Given the description of an element on the screen output the (x, y) to click on. 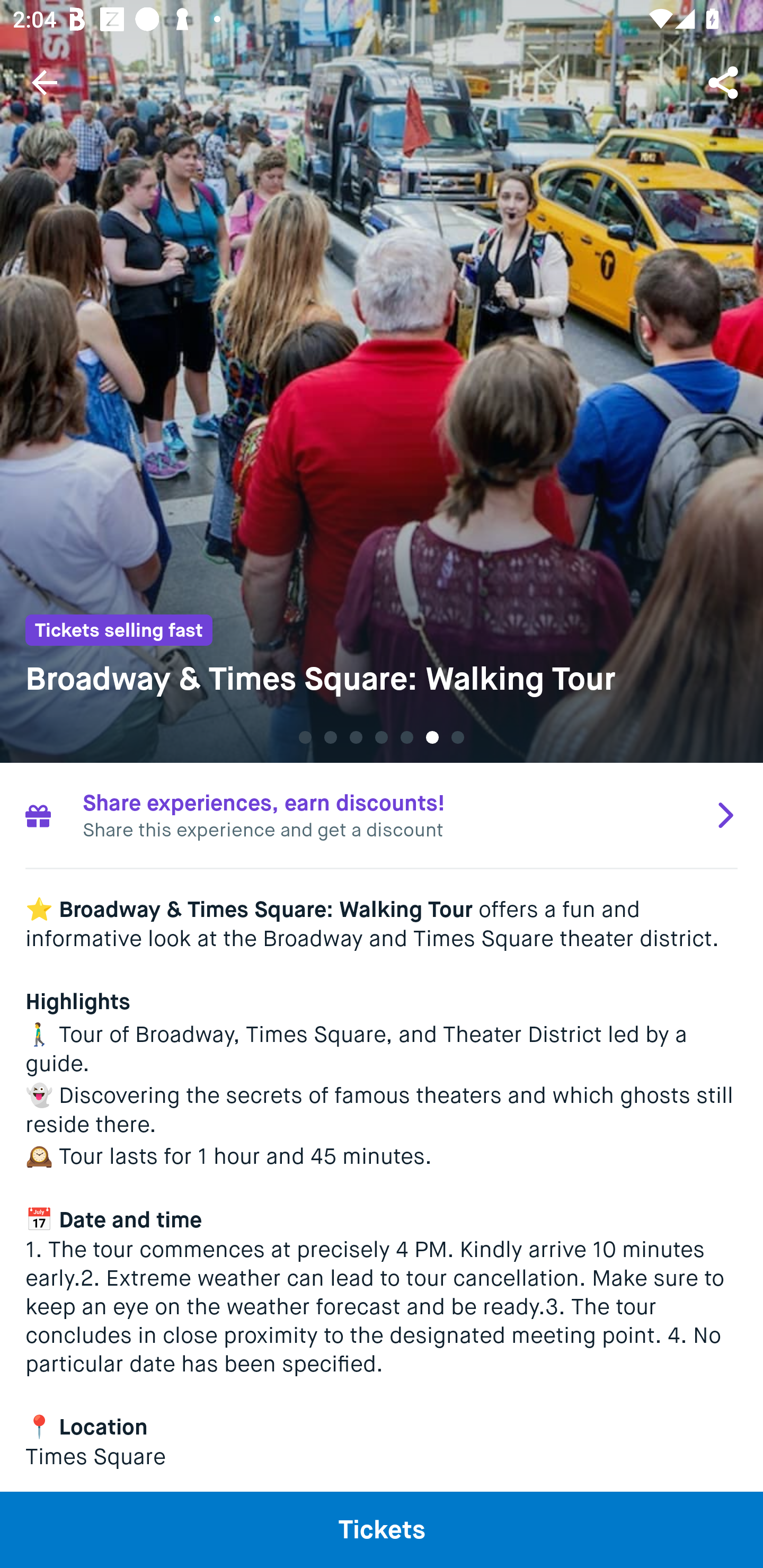
Navigate up (44, 82)
Share (724, 81)
Tickets (381, 1529)
